Given the description of an element on the screen output the (x, y) to click on. 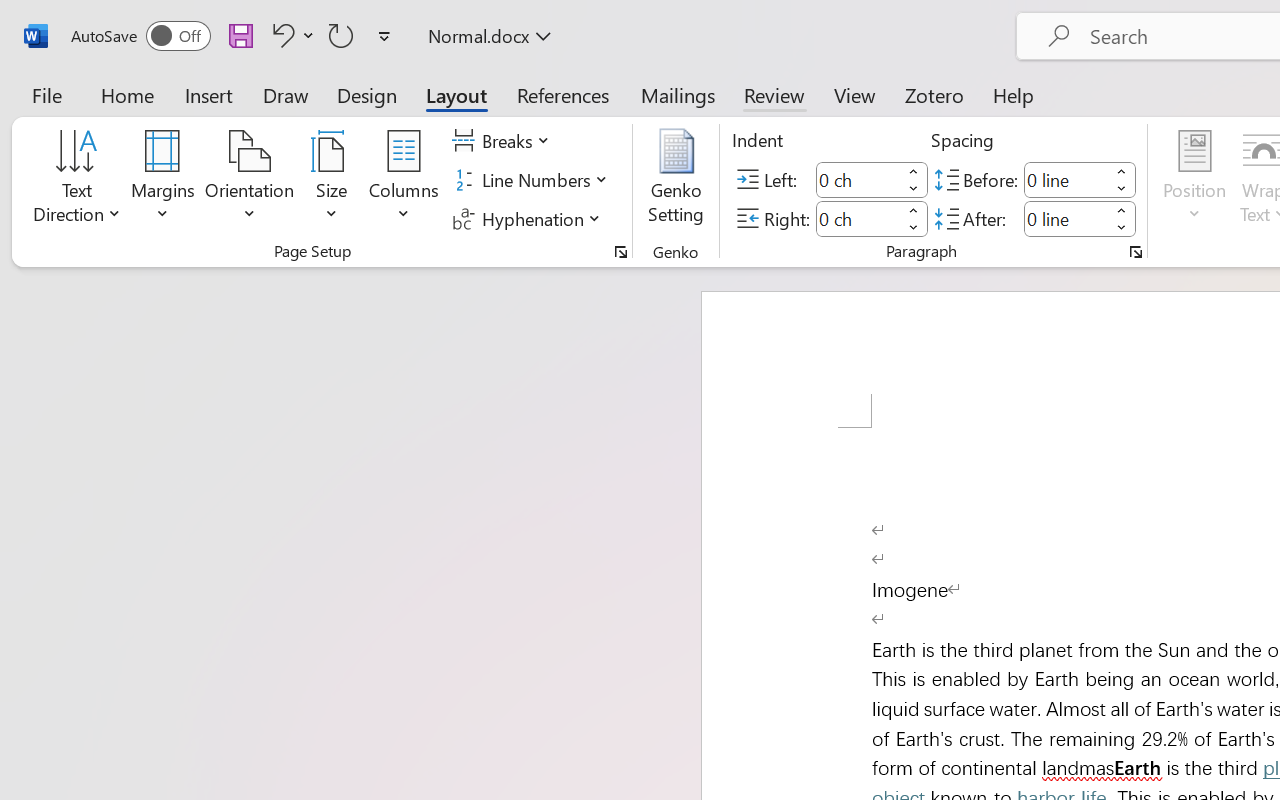
Size (331, 179)
Margins (163, 179)
Orientation (250, 179)
Page Setup... (621, 252)
Less (1121, 227)
Position (1194, 179)
Help (1013, 94)
Paragraph... (1135, 252)
Spacing Before (1066, 179)
